Given the description of an element on the screen output the (x, y) to click on. 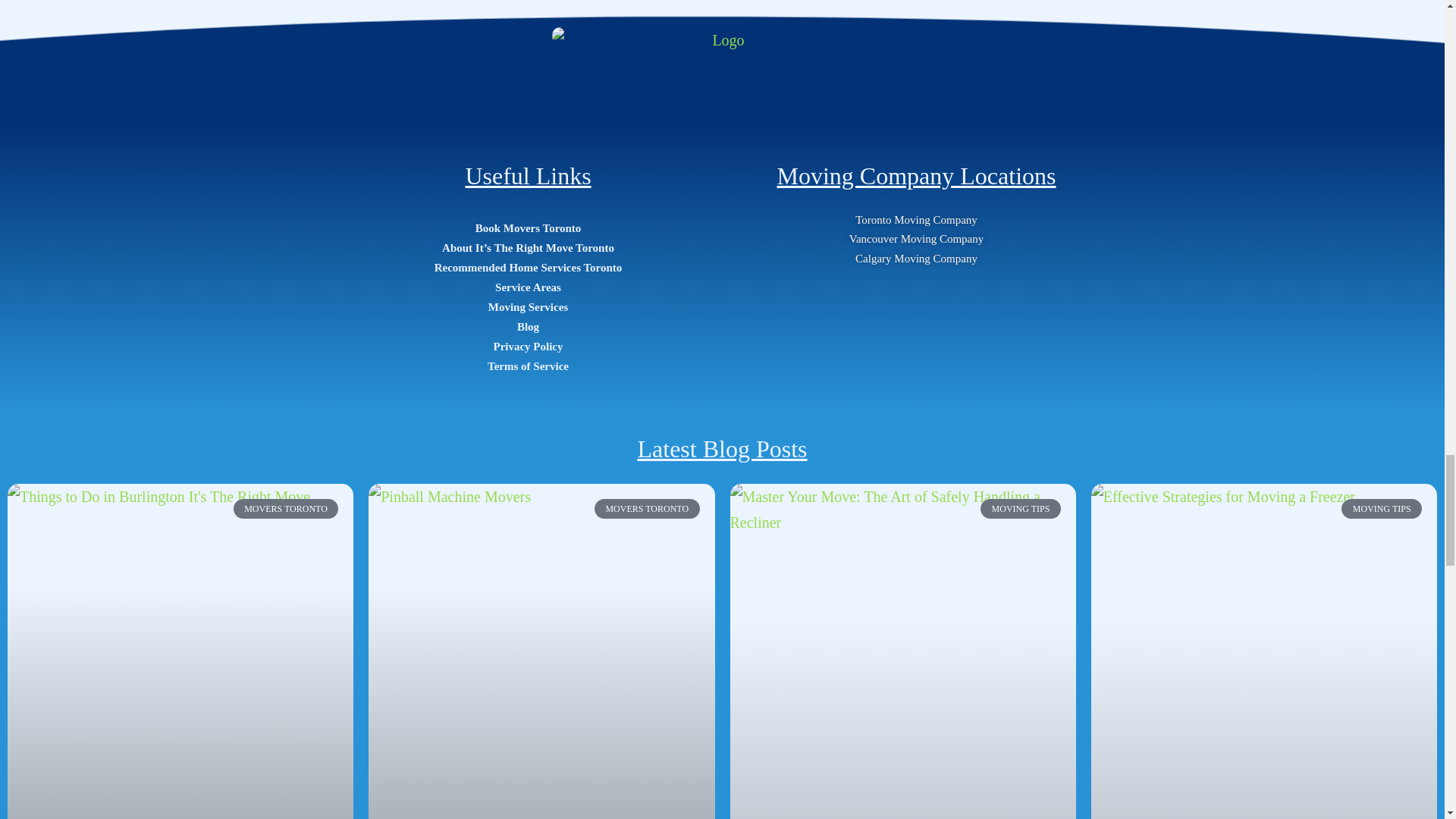
Pinball Machine Movers (541, 582)
Master Your Move: The Art of Safely Handling a Recliner (902, 651)
Effective Strategies for Moving a Freezer (1264, 651)
Logo (721, 65)
